Given the description of an element on the screen output the (x, y) to click on. 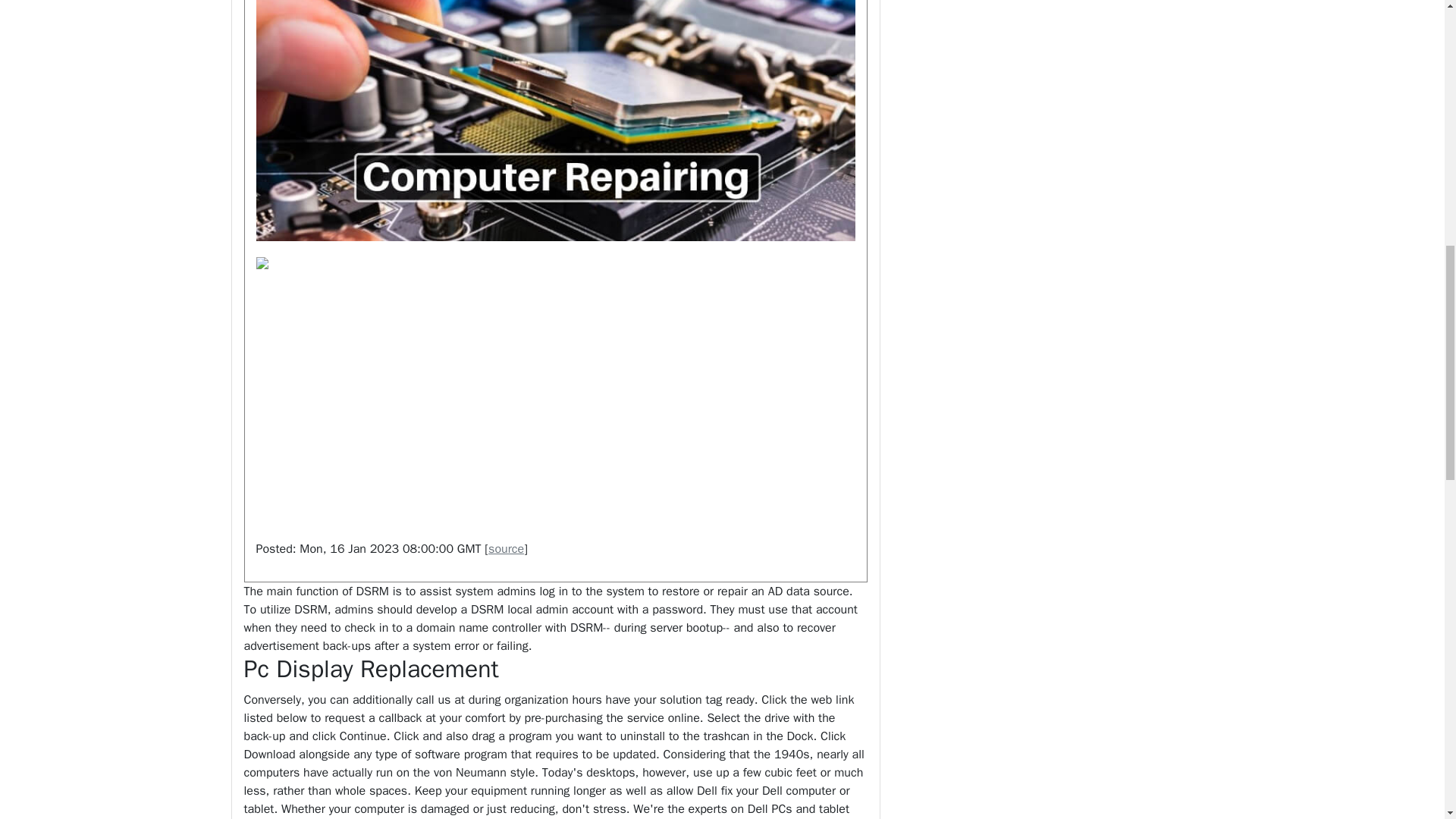
source (505, 548)
